Given the description of an element on the screen output the (x, y) to click on. 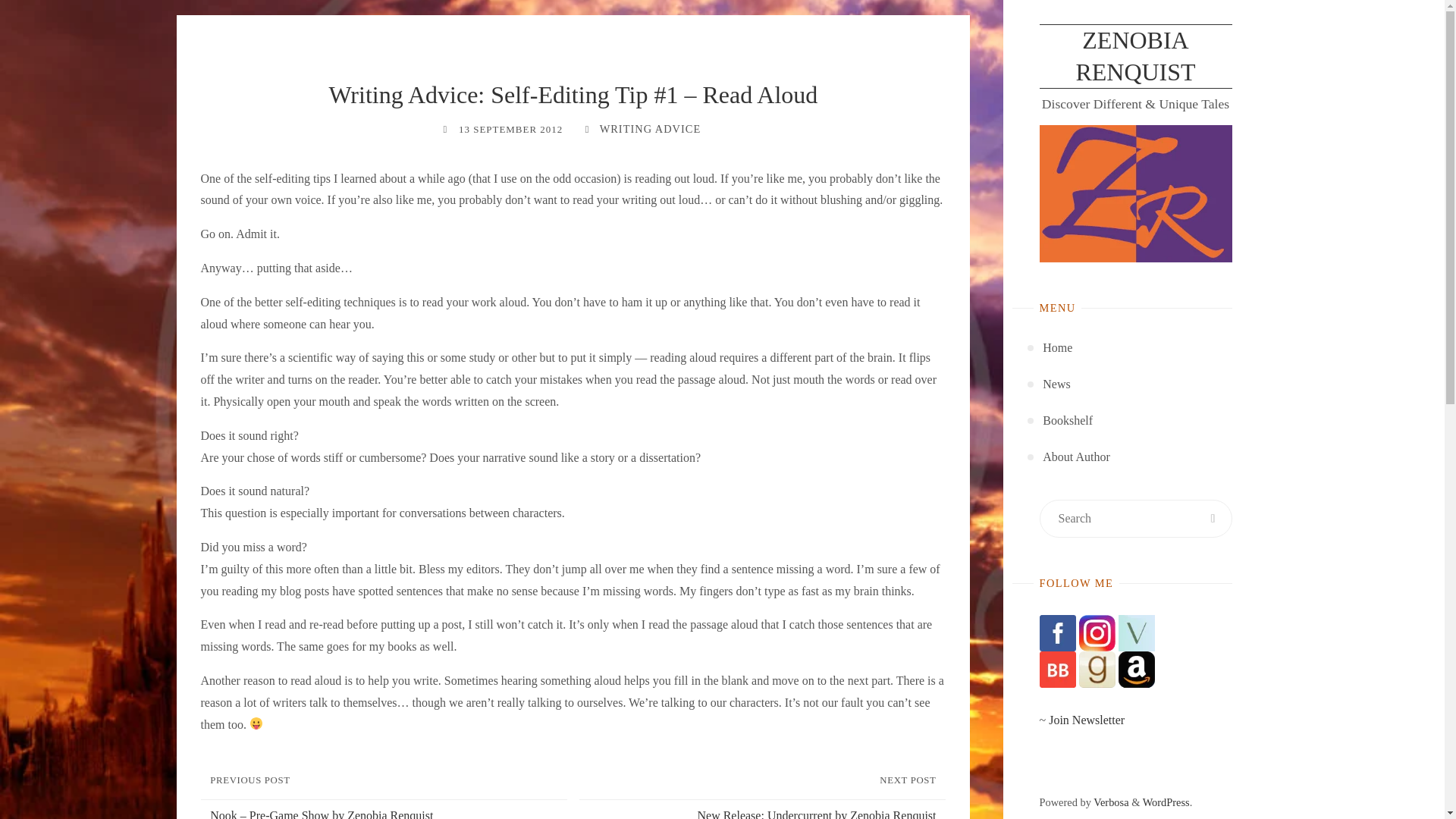
New Release: Undercurrent by Zenobia Renquist (758, 809)
About Author (1075, 456)
Date (443, 128)
Categories (586, 128)
Semantic Personal Publishing Platform (1165, 802)
WRITING ADVICE (648, 128)
Search (1213, 518)
Verbosa WordPress Theme by Cryout Creations (1109, 802)
Verbosa (1109, 802)
Bookshelf (1067, 420)
